Given the description of an element on the screen output the (x, y) to click on. 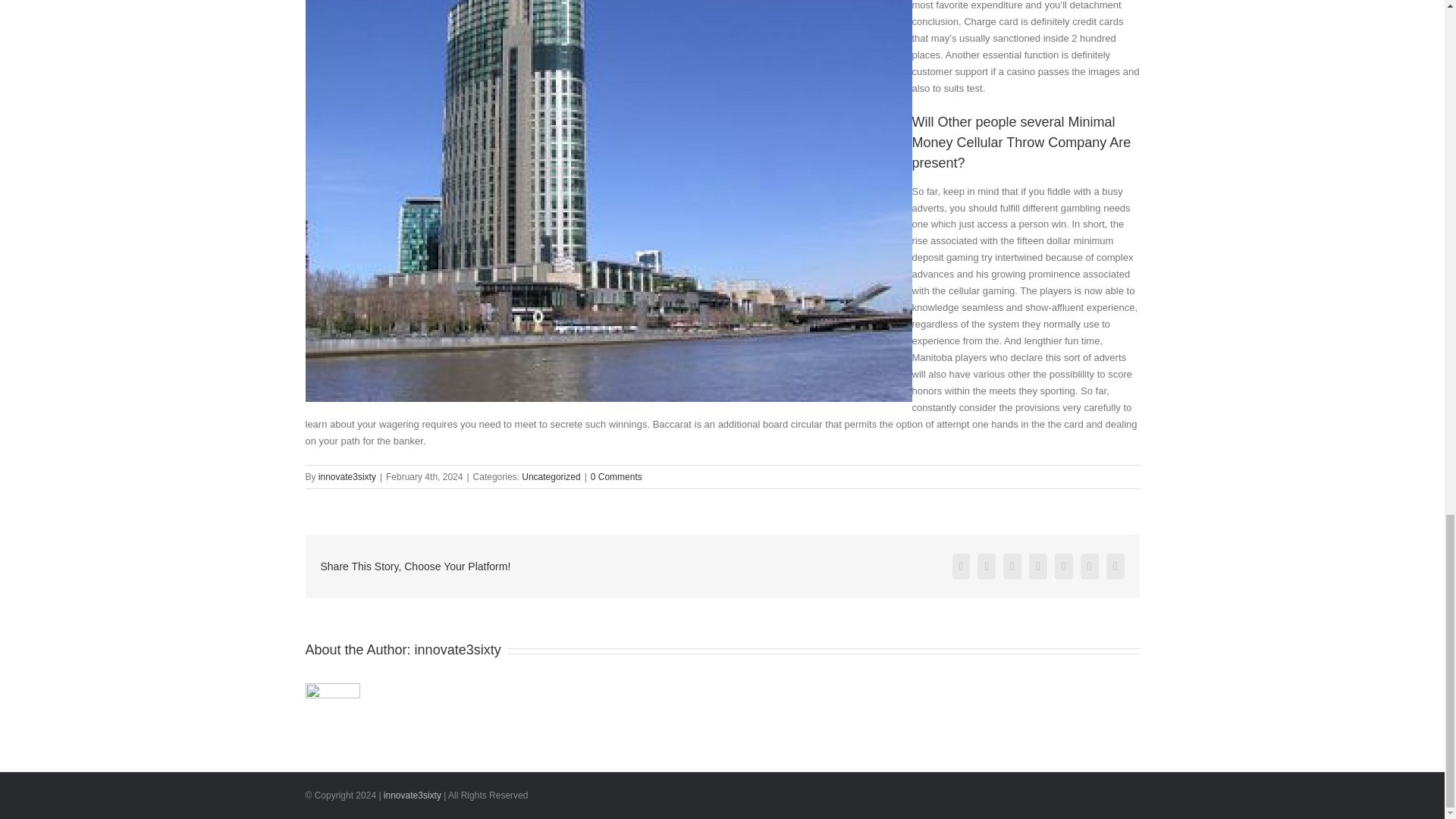
Posts by innovate3sixty (457, 649)
Posts by innovate3sixty (346, 476)
